Given the description of an element on the screen output the (x, y) to click on. 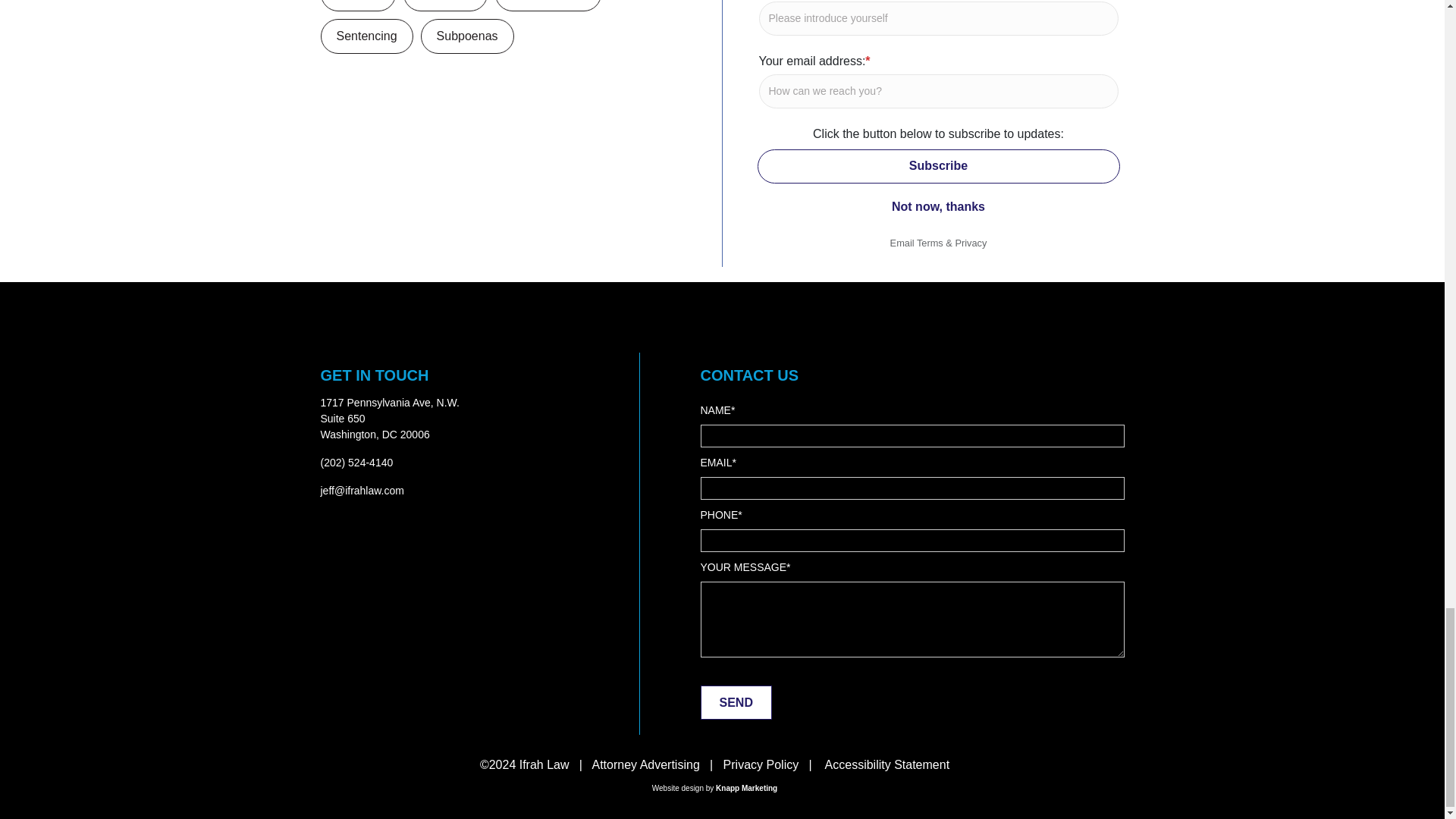
How can we reach you? (938, 91)
Please introduce yourself (938, 18)
Not now, thanks (938, 206)
Subscribe (938, 166)
